Given the description of an element on the screen output the (x, y) to click on. 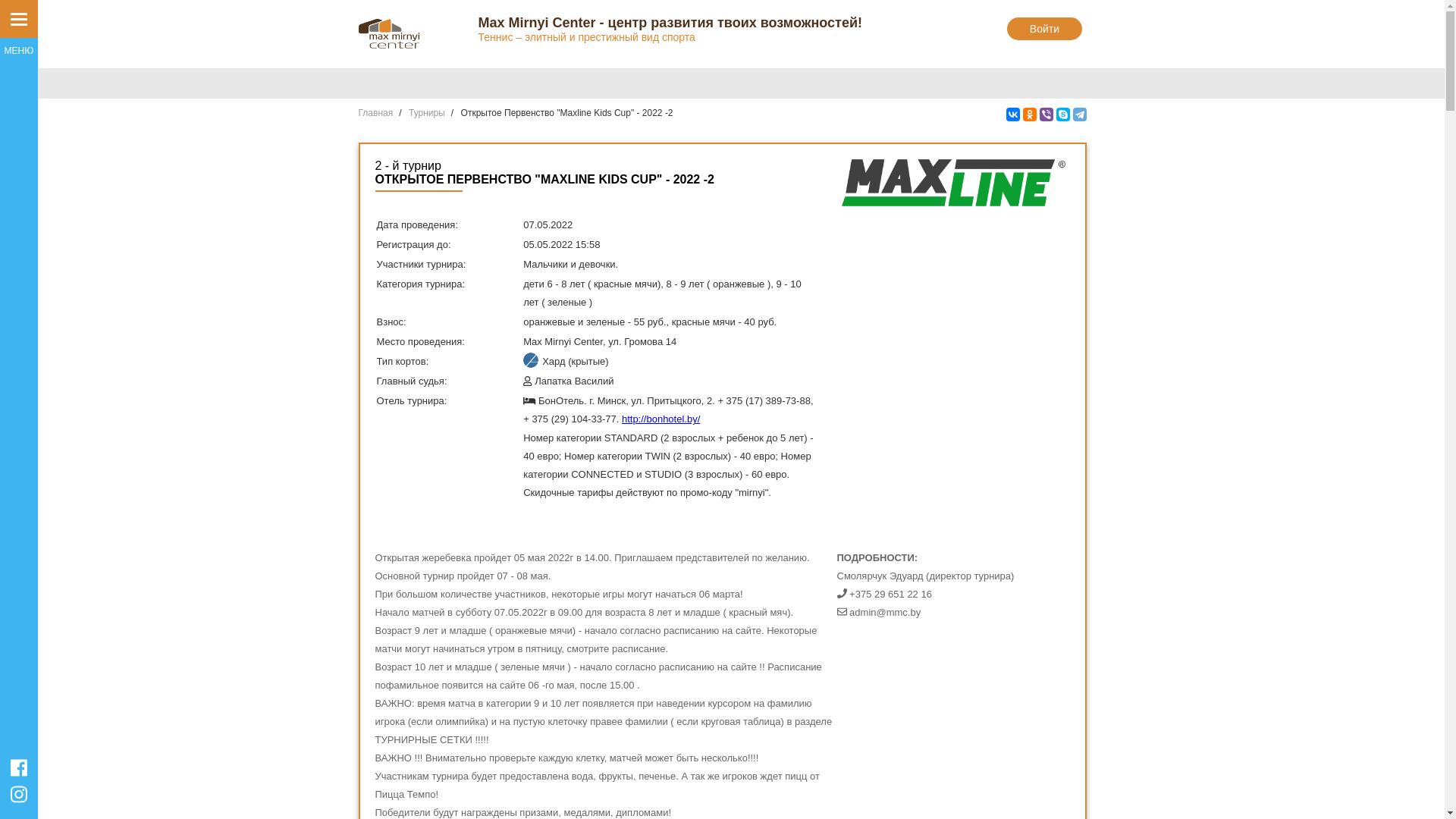
Telegram Element type: hover (1078, 114)
Viber Element type: hover (1045, 114)
http://bonhotel.by/ Element type: text (660, 418)
Skype Element type: hover (1062, 114)
